Given the description of an element on the screen output the (x, y) to click on. 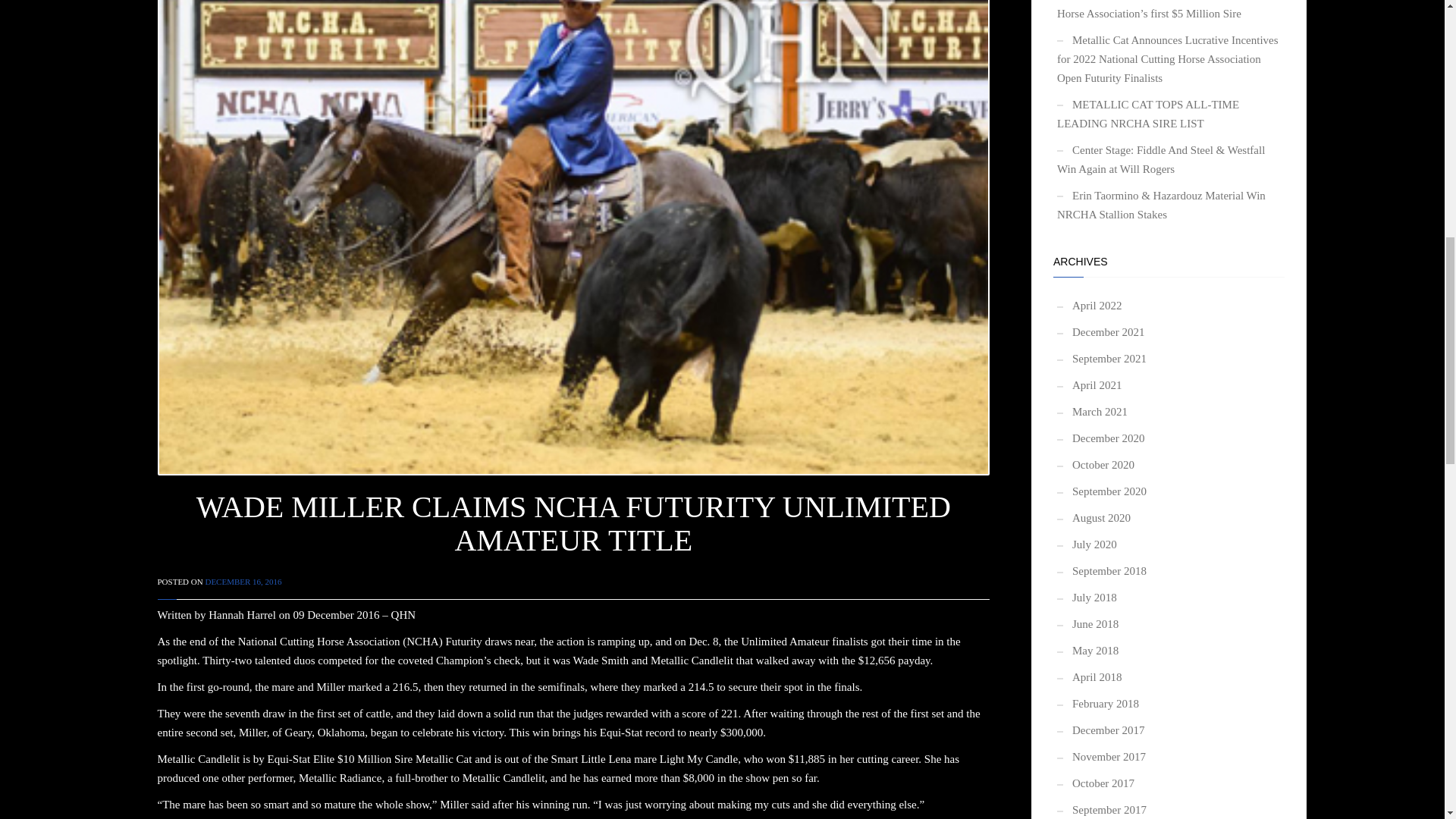
February 2018 (1097, 704)
May 2018 (1087, 651)
September 2021 (1102, 358)
DECEMBER 16, 2016 (243, 581)
April 2018 (1089, 677)
June 2018 (1087, 624)
September 2020 (1102, 491)
September 2018 (1102, 570)
April 2021 (1089, 385)
December 2017 (1100, 730)
METALLIC CAT TOPS ALL-TIME LEADING NRCHA SIRE LIST (1169, 114)
November 2017 (1101, 756)
July 2020 (1086, 544)
December 2021 (1100, 332)
March 2021 (1091, 411)
